Given the description of an element on the screen output the (x, y) to click on. 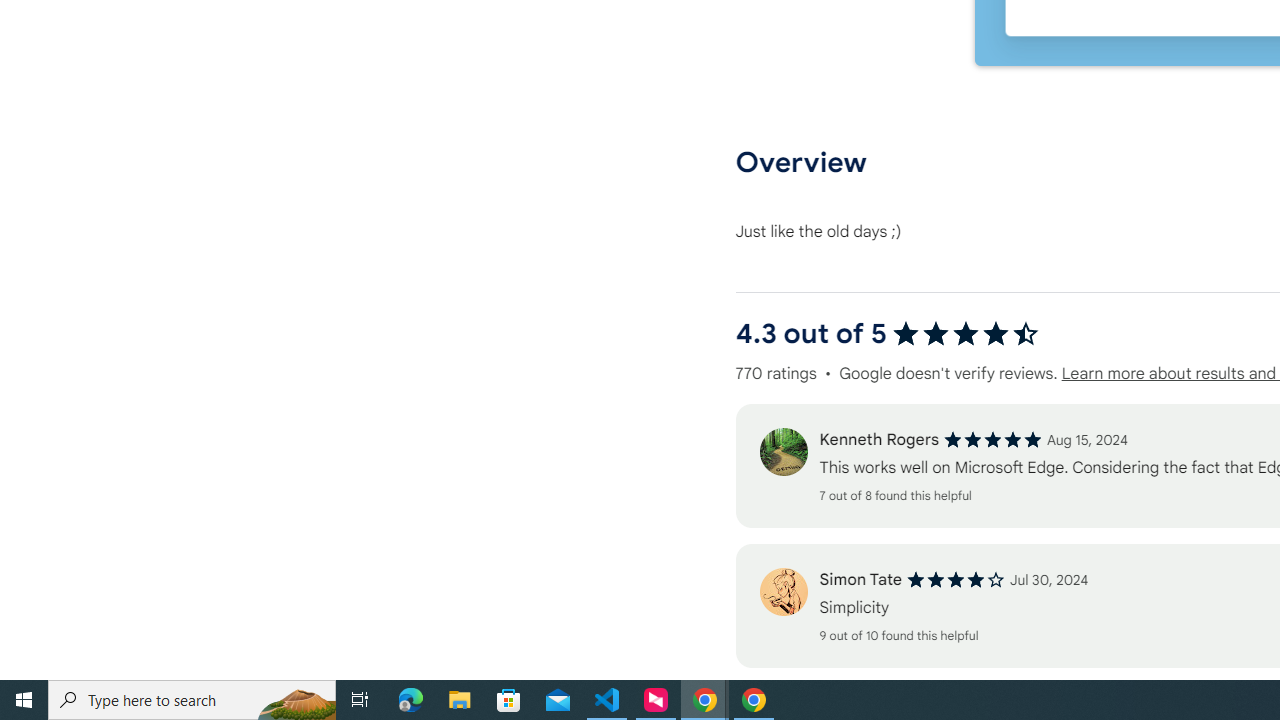
4 out of 5 stars (956, 580)
5 out of 5 stars (992, 439)
Review's profile picture (783, 592)
4.3 out of 5 stars (965, 334)
